Given the description of an element on the screen output the (x, y) to click on. 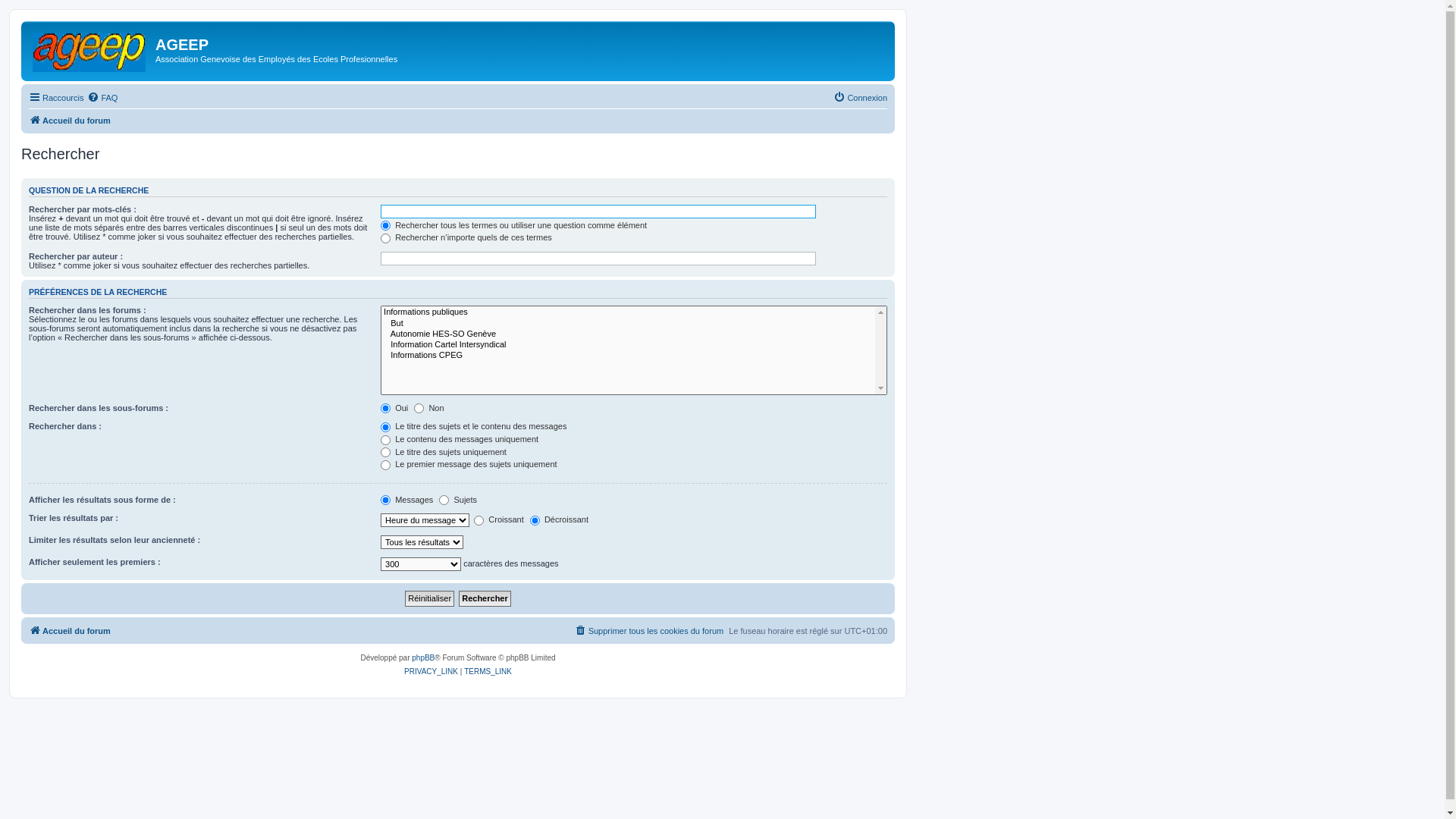
PRIVACY_LINK Element type: text (431, 671)
FAQ Element type: text (102, 97)
TERMS_LINK Element type: text (487, 671)
Supprimer tous les cookies du forum Element type: text (649, 630)
Accueil du forum Element type: text (69, 120)
Rechercher par auteur Element type: hover (597, 258)
Connexion Element type: text (860, 97)
Accueil du forum Element type: text (69, 630)
Accueil du forum Element type: hover (90, 49)
Raccourcis Element type: text (55, 97)
Rechercher Element type: text (484, 598)
phpBB Element type: text (422, 658)
